Given the description of an element on the screen output the (x, y) to click on. 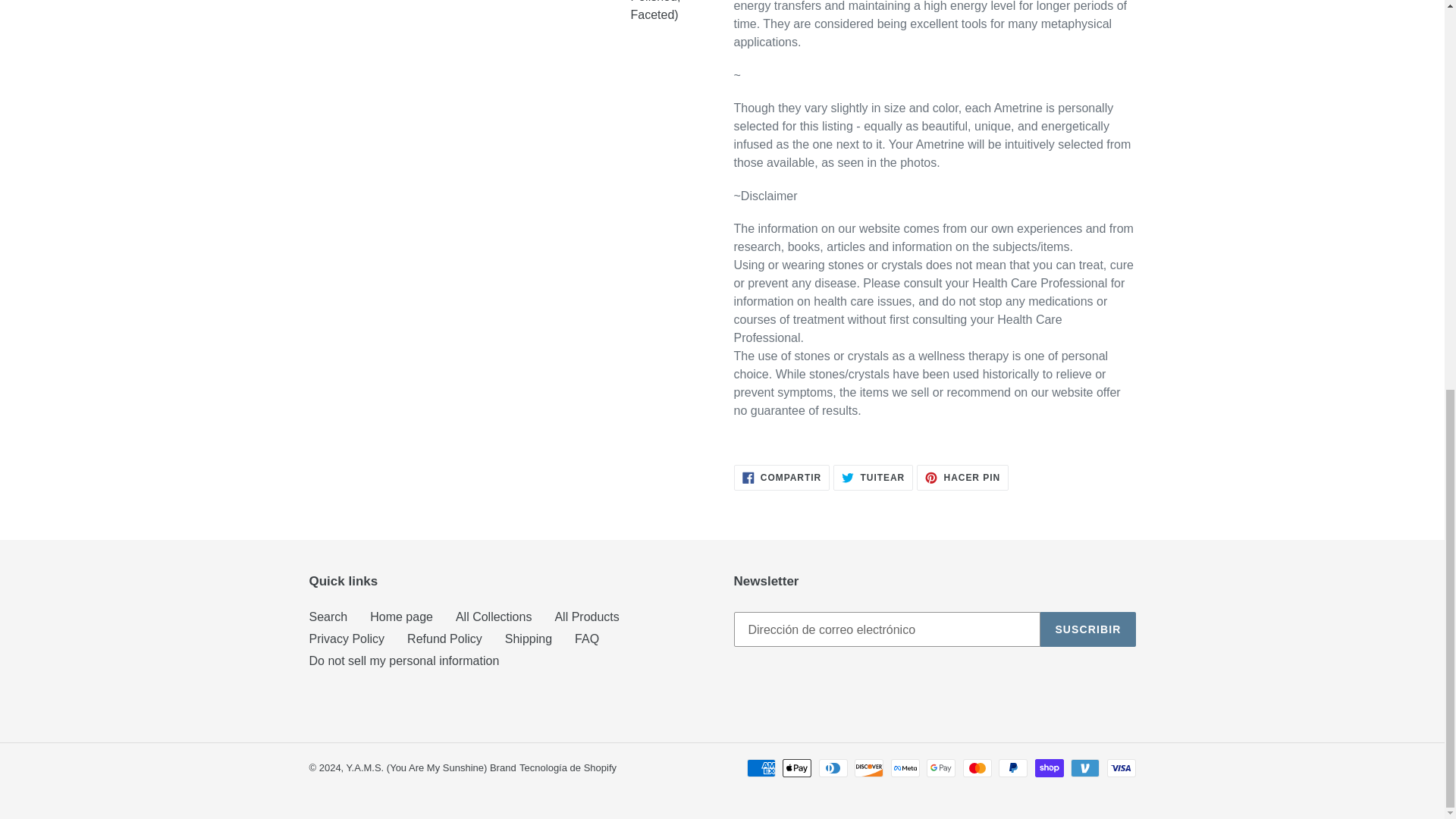
Do not sell my personal information (781, 477)
Refund Policy (403, 660)
FAQ (444, 638)
Home page (586, 638)
All Products (400, 616)
SUSCRIBIR (586, 616)
Privacy Policy (1088, 629)
Search (346, 638)
Shipping (327, 616)
